Given the description of an element on the screen output the (x, y) to click on. 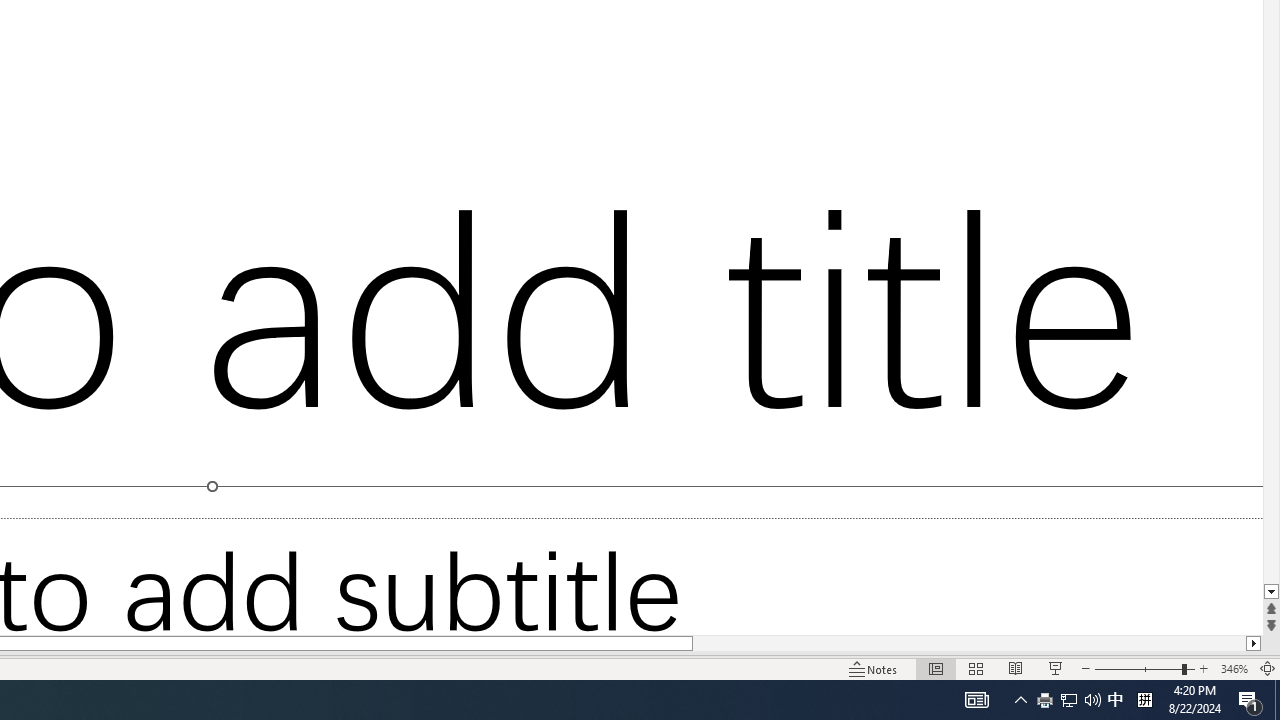
Zoom 346% (1234, 668)
